Given the description of an element on the screen output the (x, y) to click on. 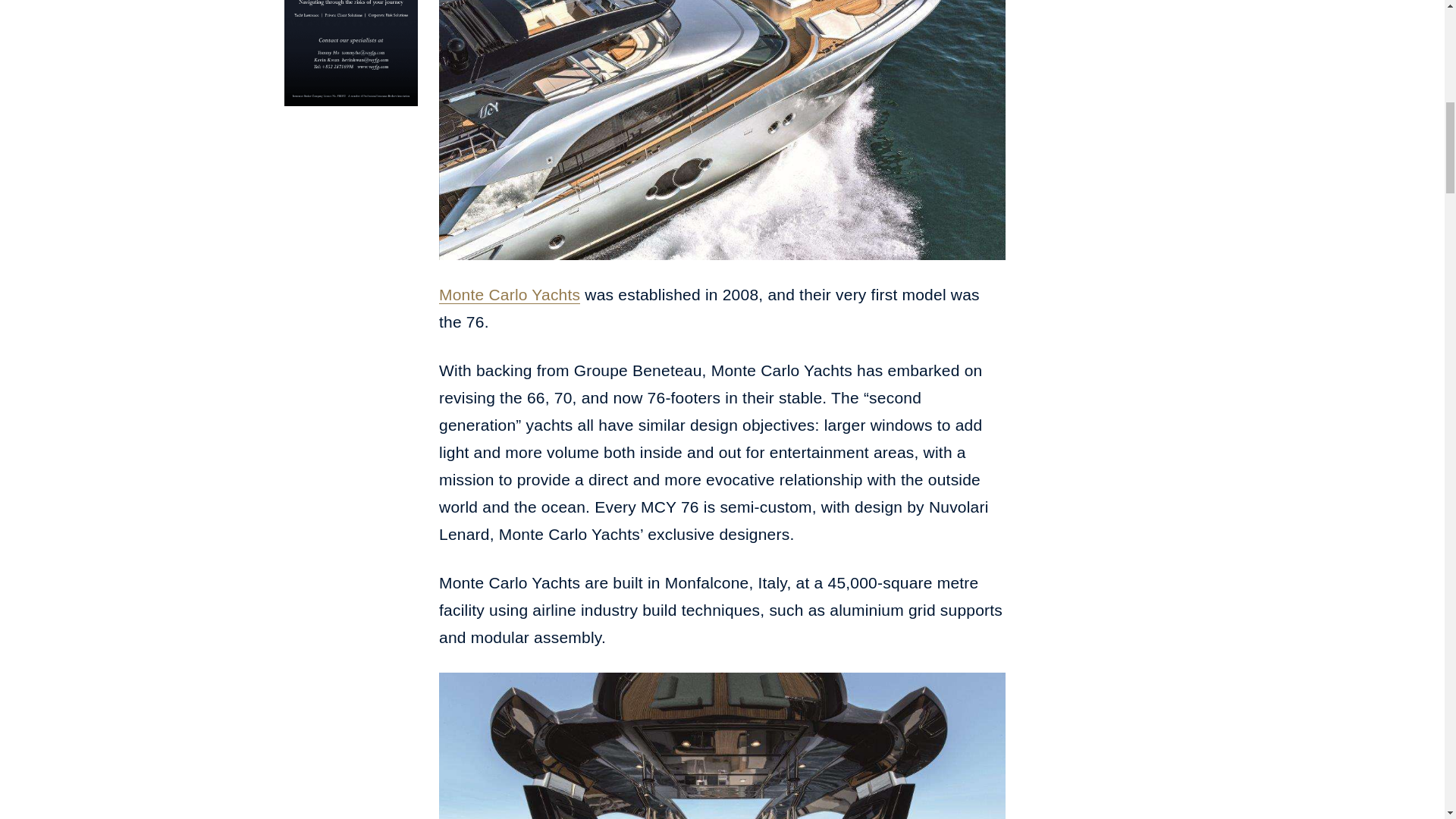
Monte Carlo Yachts (509, 294)
